Given the description of an element on the screen output the (x, y) to click on. 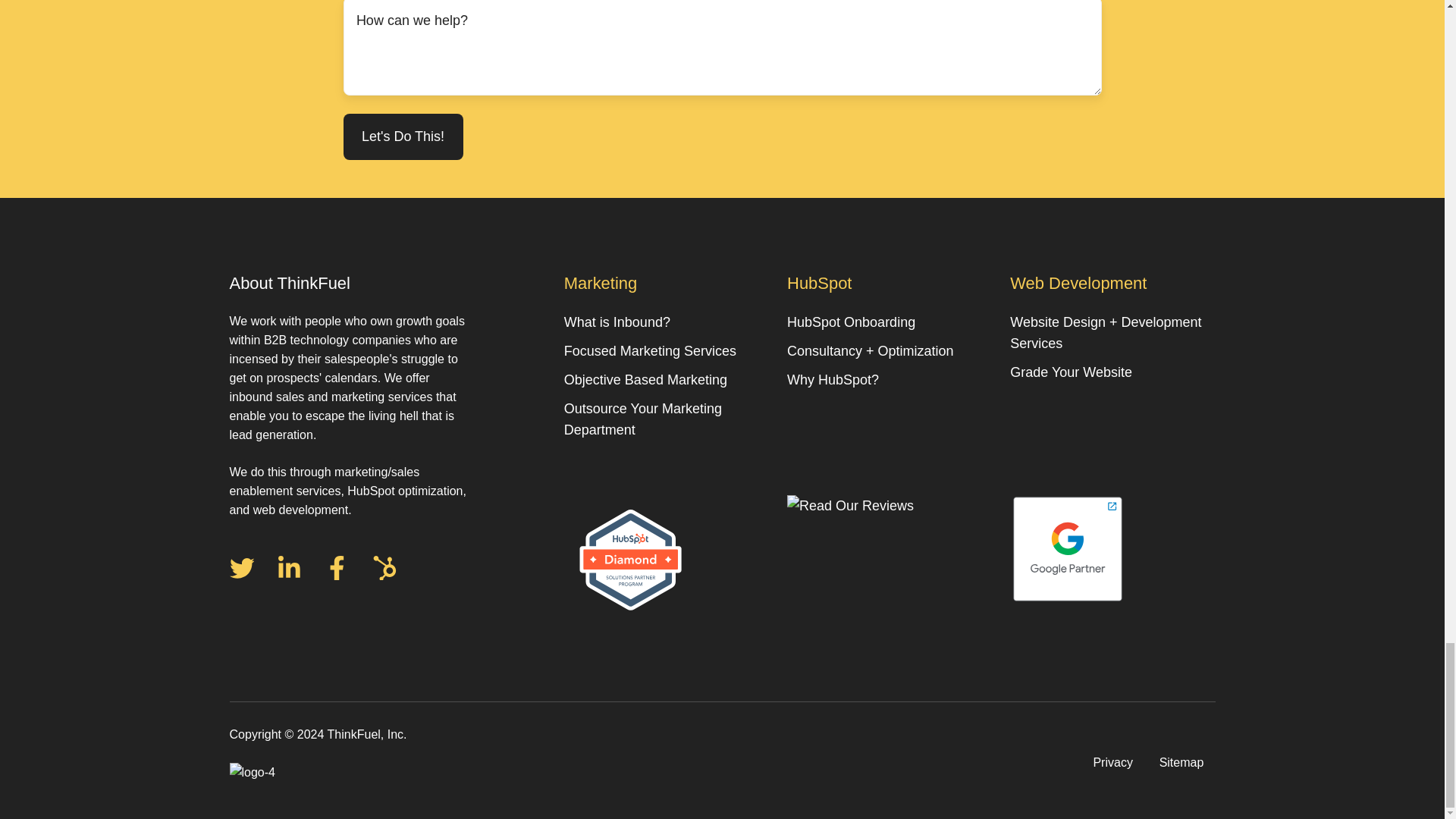
Let's Do This! (402, 136)
Objective Based Marketing (645, 379)
Outsource Your Marketing Department (643, 419)
Let's Do This! (402, 136)
Focused Marketing Services (650, 350)
HubSpot Onboarding (851, 322)
Why HubSpot? (833, 379)
What is Inbound? (616, 322)
